Given the description of an element on the screen output the (x, y) to click on. 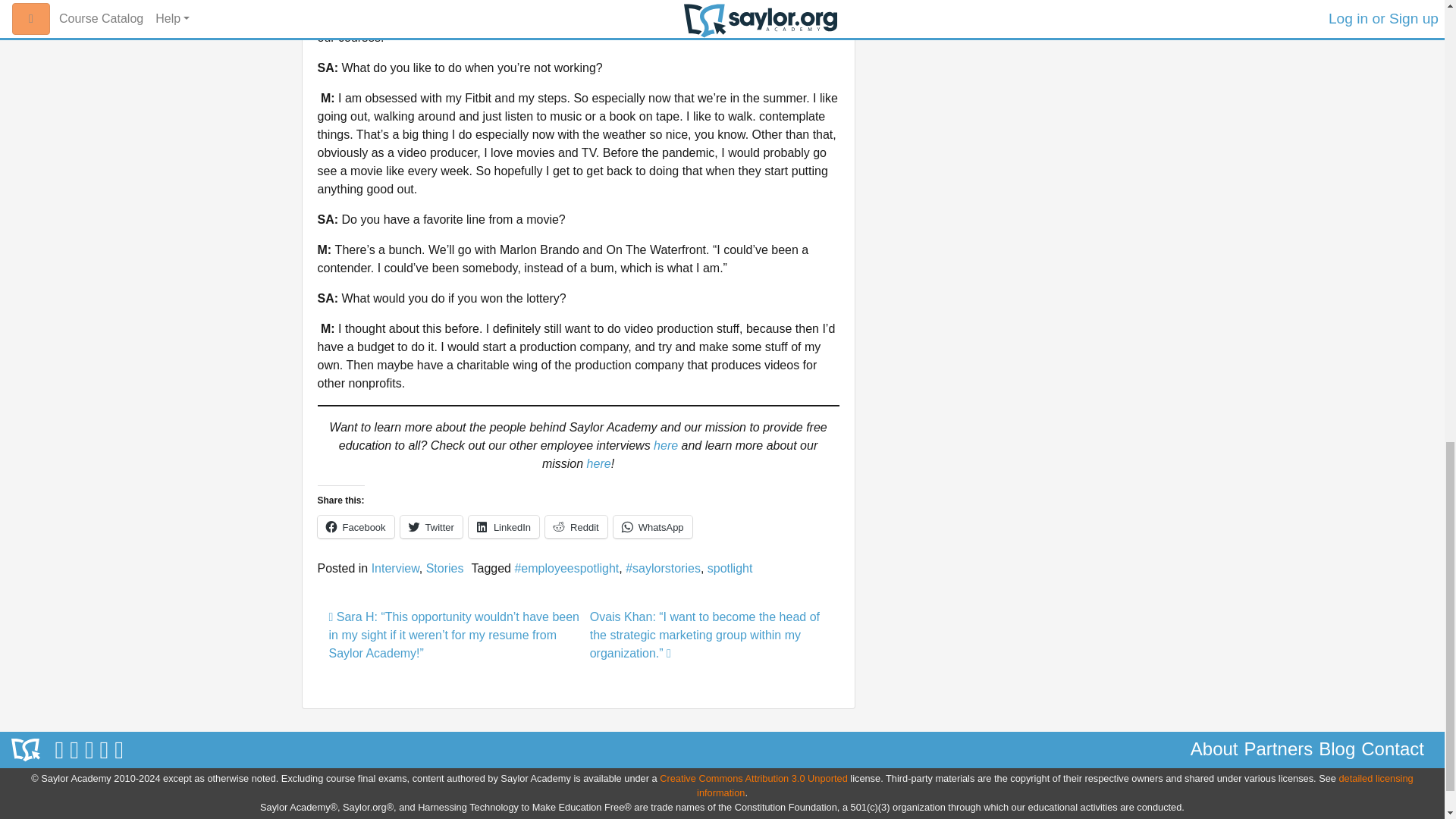
 here (664, 445)
Reddit (575, 526)
Click to share on Twitter (431, 526)
Stories (445, 567)
About (1215, 749)
Partners (1278, 749)
Click to share on LinkedIn (503, 526)
Facebook (355, 526)
Blog (1337, 749)
Click to share on Facebook (355, 526)
WhatsApp (652, 526)
Saylor Academy (25, 749)
Interview (395, 567)
Click to share on Reddit (575, 526)
here (598, 463)
